Given the description of an element on the screen output the (x, y) to click on. 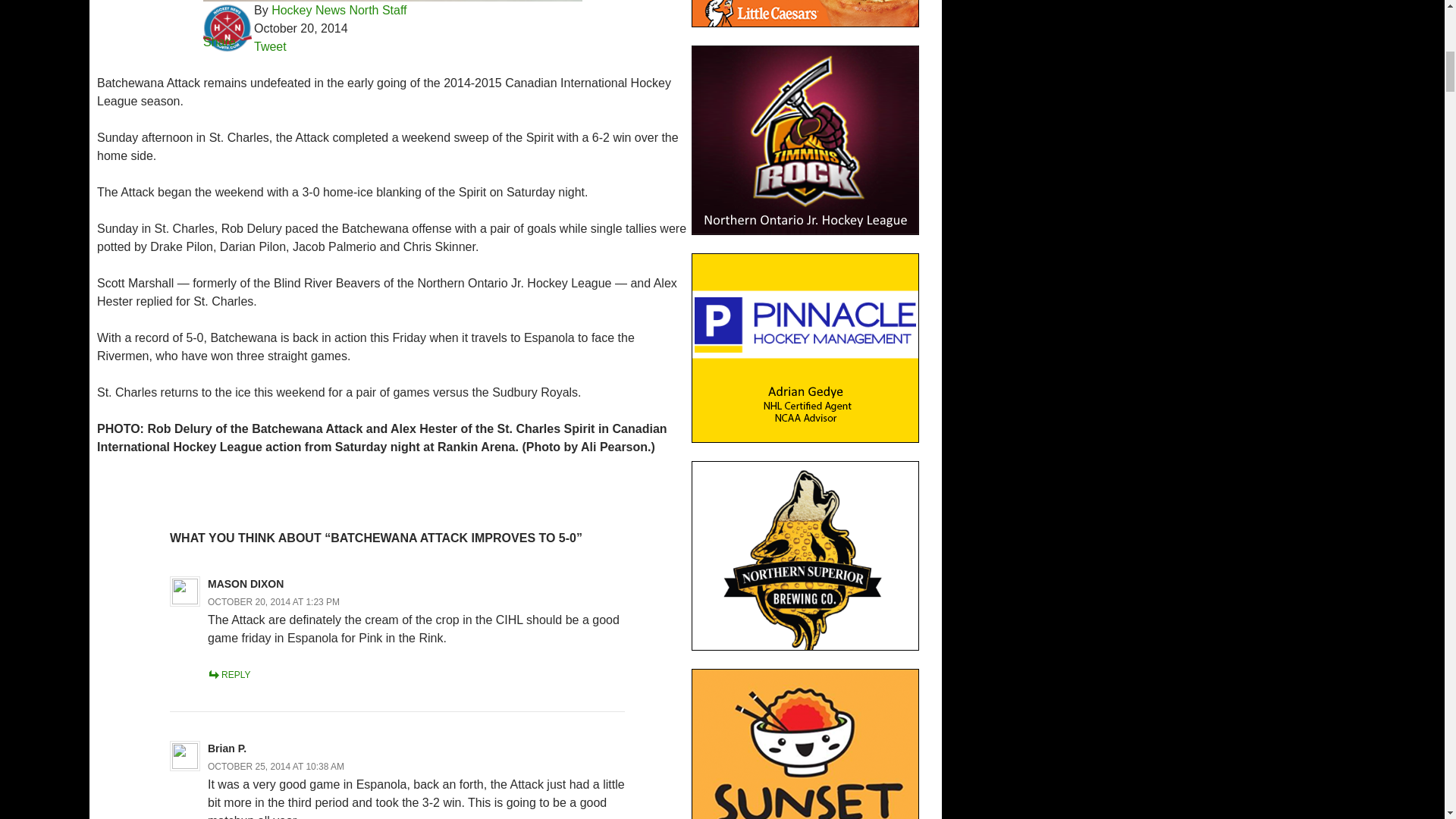
Posts by Hockey News North Staff (338, 10)
